Given the description of an element on the screen output the (x, y) to click on. 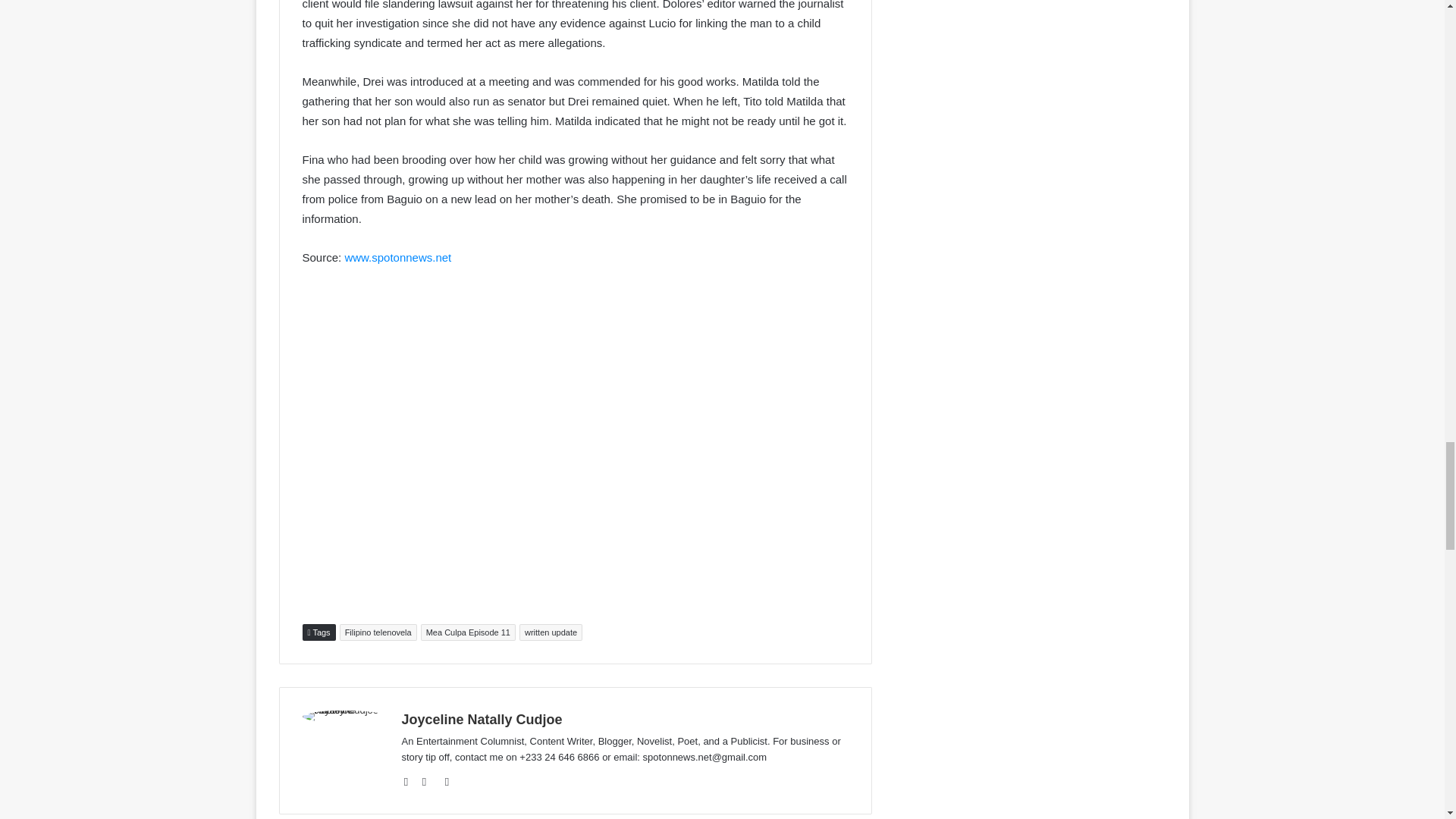
Joyceline Natally Cudjoe (481, 719)
www.spotonnews.net (397, 256)
Facebook (429, 782)
Filipino telenovela (377, 632)
written update (550, 632)
Website (410, 782)
Mea Culpa Episode 11 (467, 632)
